Given the description of an element on the screen output the (x, y) to click on. 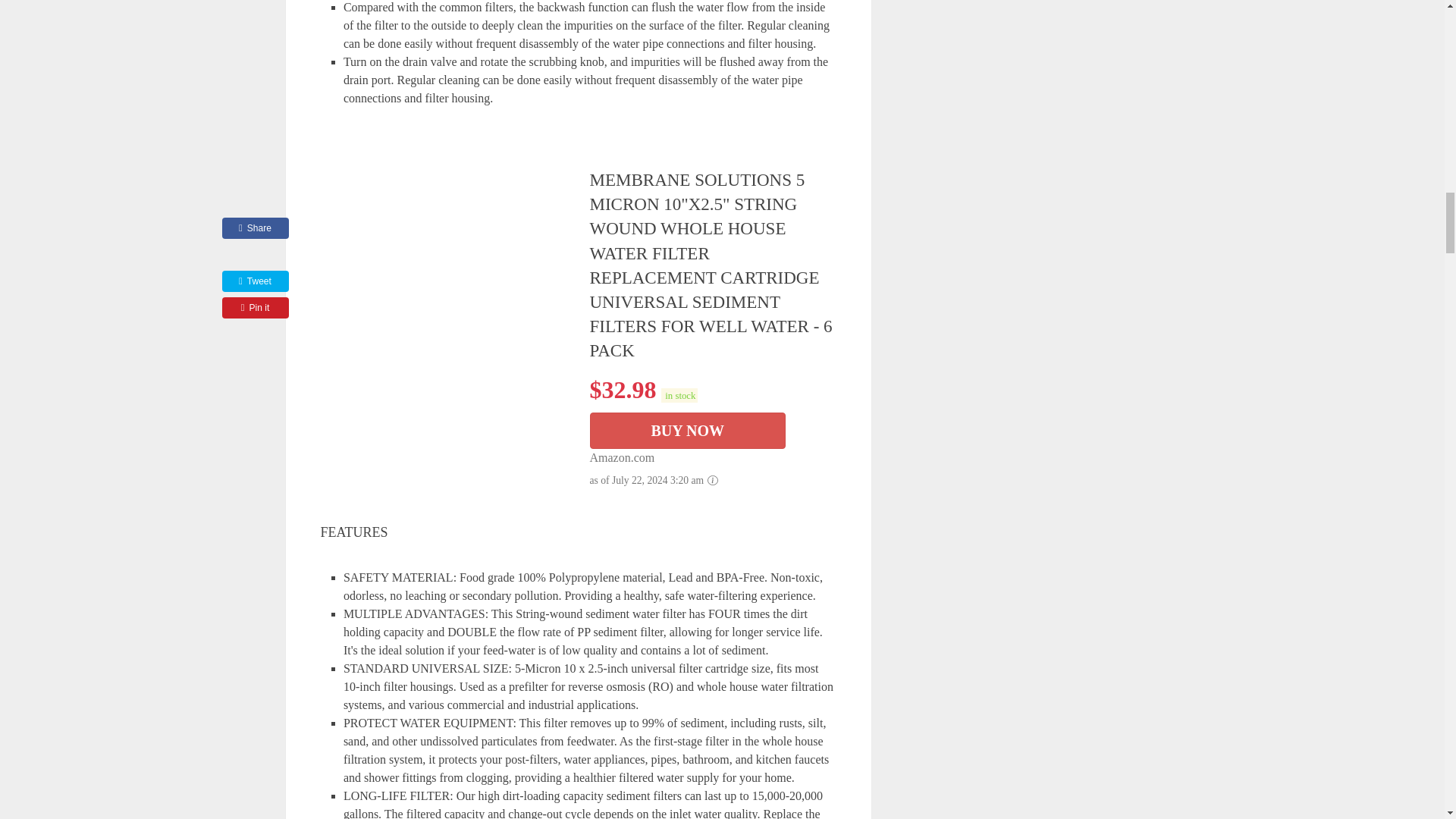
Last updated on July 22, 2024 3:20 am (679, 395)
